Given the description of an element on the screen output the (x, y) to click on. 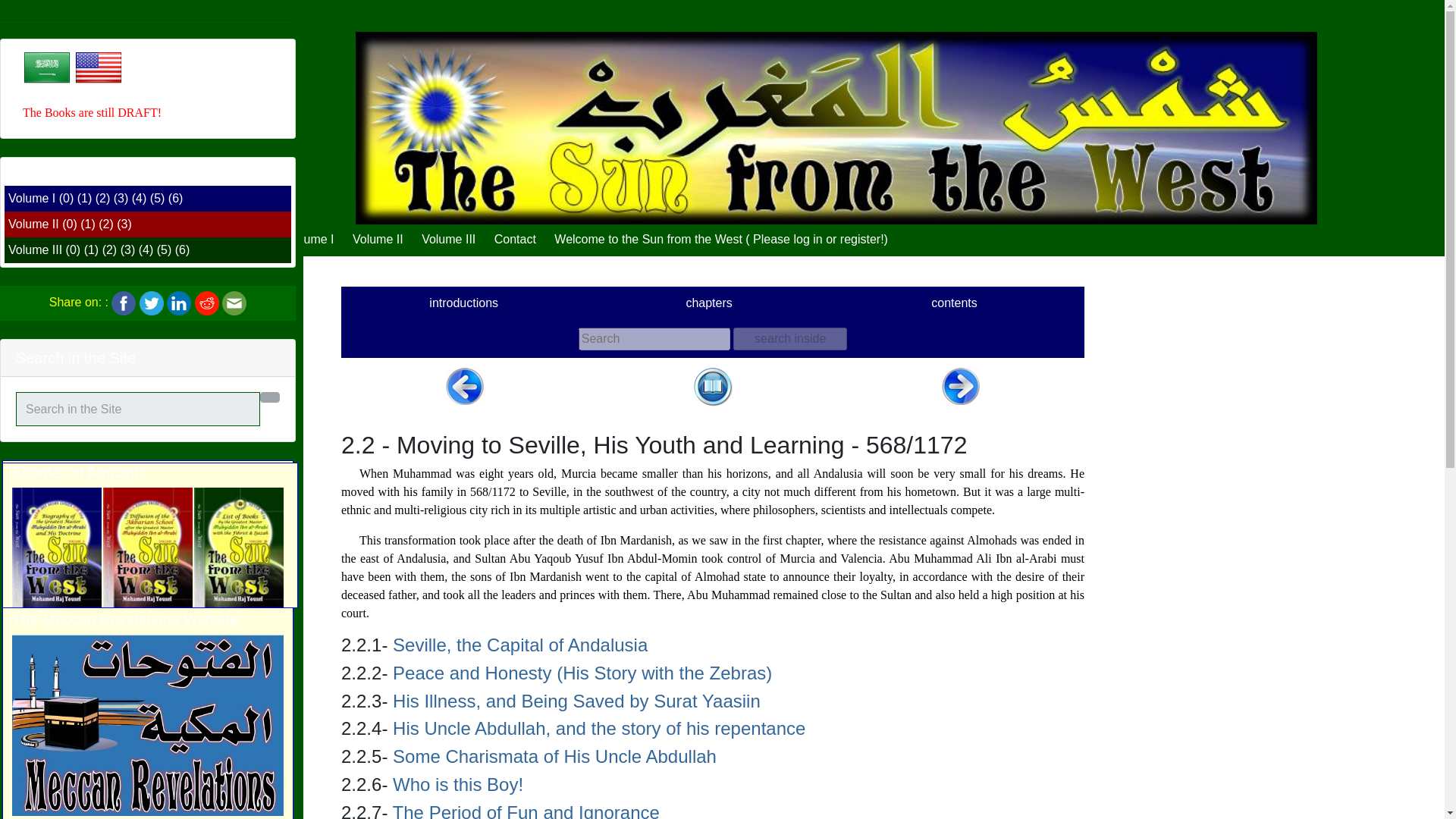
Volume I (31, 197)
search inside (790, 338)
Volume I (309, 238)
Starting Page (255, 238)
Start (255, 238)
Please log in or register! (817, 238)
next section (960, 385)
previous section (464, 385)
